Given the description of an element on the screen output the (x, y) to click on. 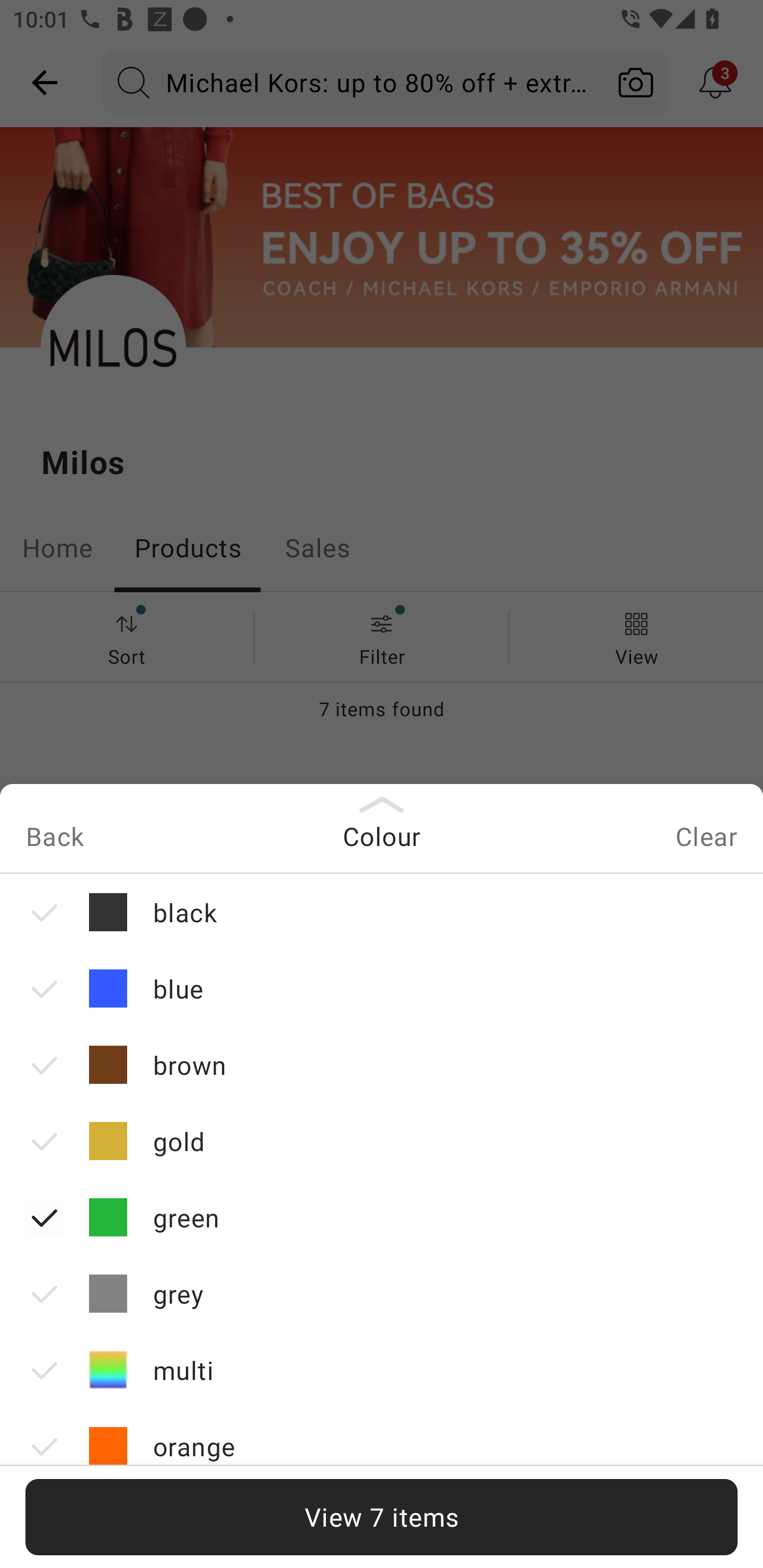
Back (54, 838)
Clear (706, 838)
black (381, 911)
blue (381, 988)
brown (381, 1064)
gold (381, 1140)
green (381, 1217)
grey (381, 1293)
multi (381, 1369)
orange (381, 1446)
View 7 items (381, 1516)
